Given the description of an element on the screen output the (x, y) to click on. 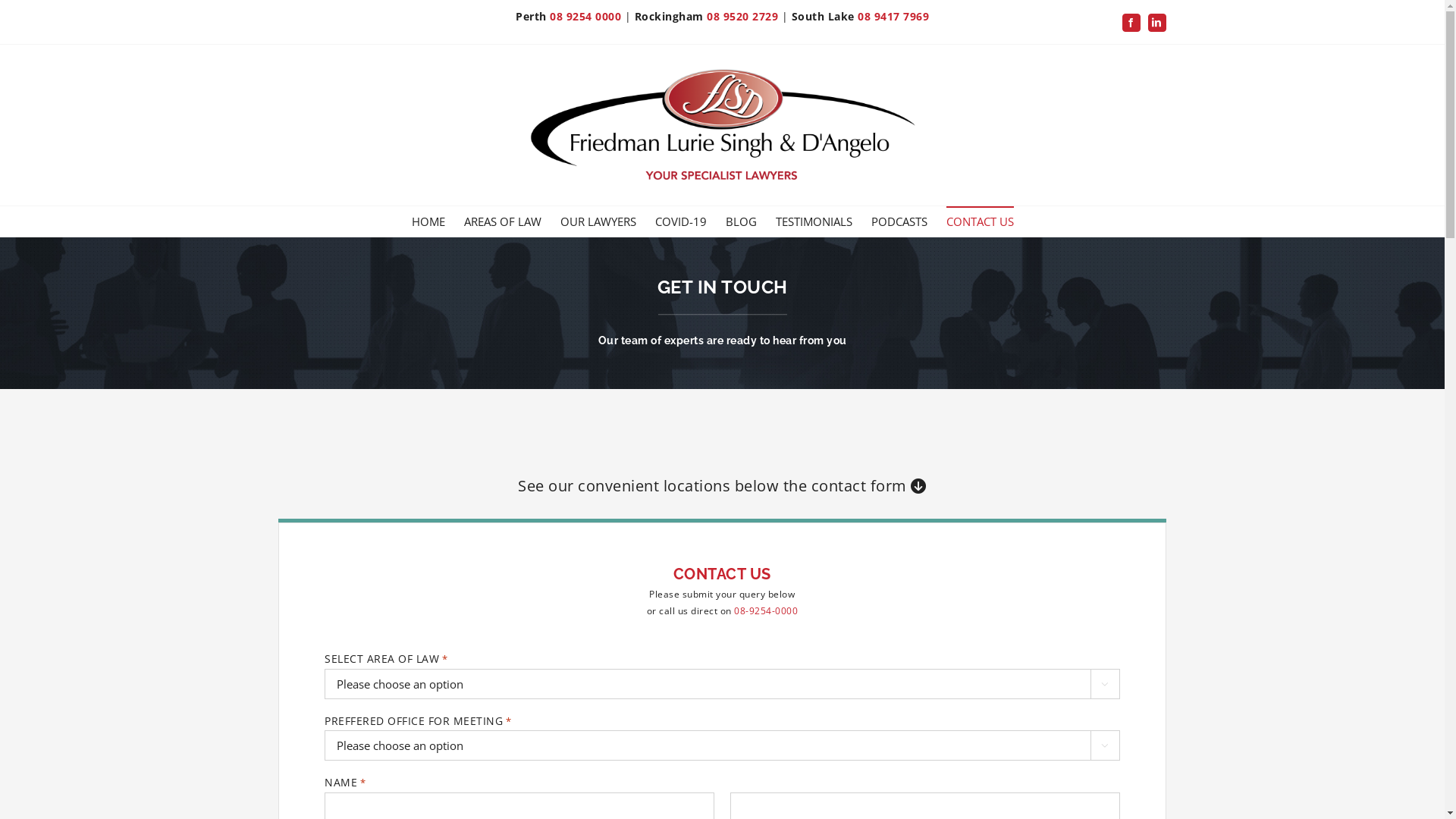
Rockingham Element type: text (667, 16)
OUR LAWYERS Element type: text (598, 221)
PODCASTS Element type: text (899, 221)
CONTACT US Element type: text (979, 221)
South Lake Element type: text (822, 16)
08-9254-0000 Element type: text (765, 610)
HOME Element type: text (428, 221)
Perth Element type: text (530, 16)
LinkedIn Element type: text (1157, 22)
08 9254 0000 Element type: text (585, 16)
TESTIMONIALS Element type: text (813, 221)
08 9417 7969 Element type: text (892, 16)
BLOG Element type: text (740, 221)
Facebook Element type: text (1131, 22)
COVID-19 Element type: text (680, 221)
AREAS OF LAW Element type: text (502, 221)
08 9520 2729 Element type: text (742, 16)
